Given the description of an element on the screen output the (x, y) to click on. 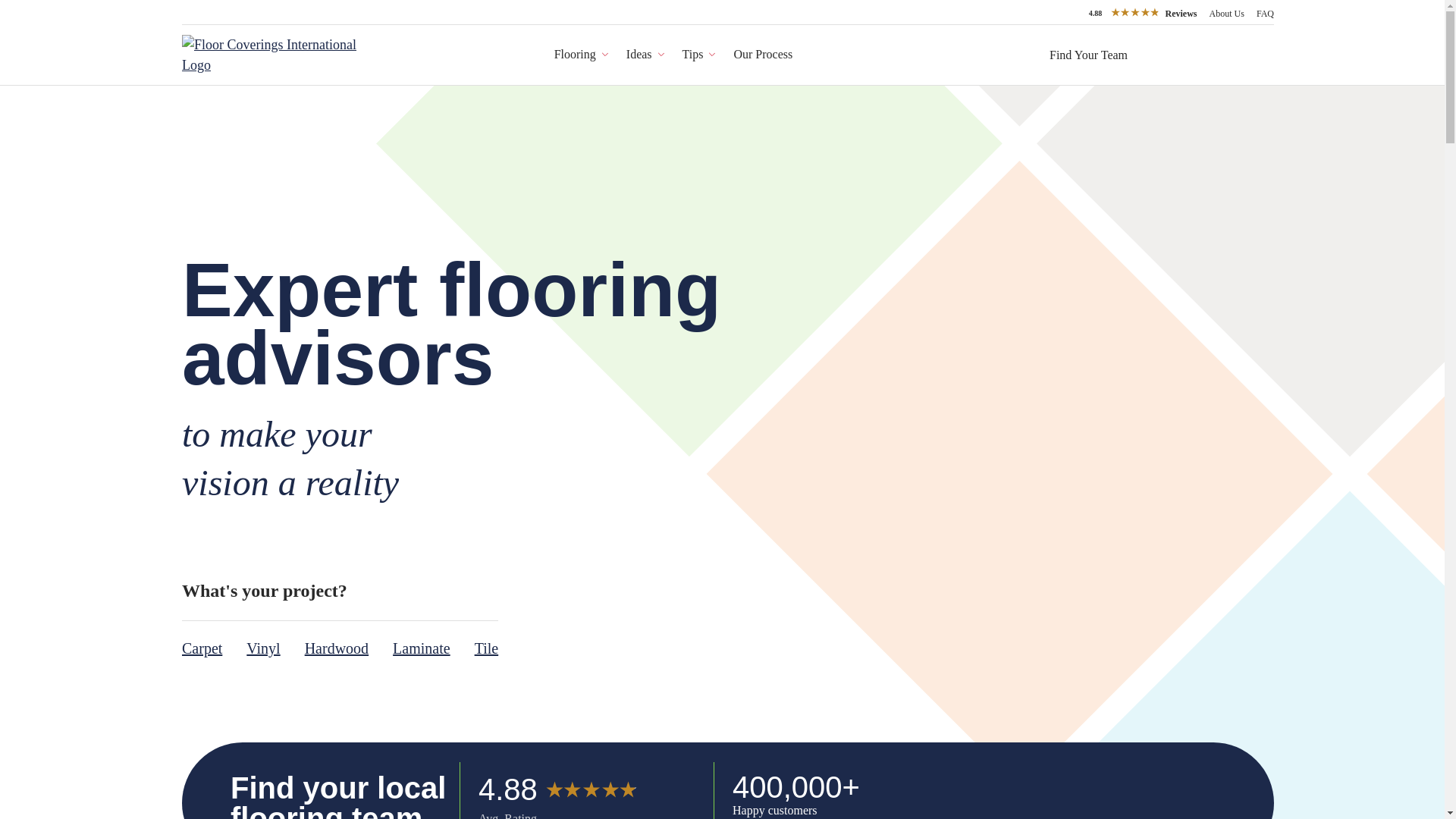
Homepage (271, 55)
About Us (1142, 14)
